Given the description of an element on the screen output the (x, y) to click on. 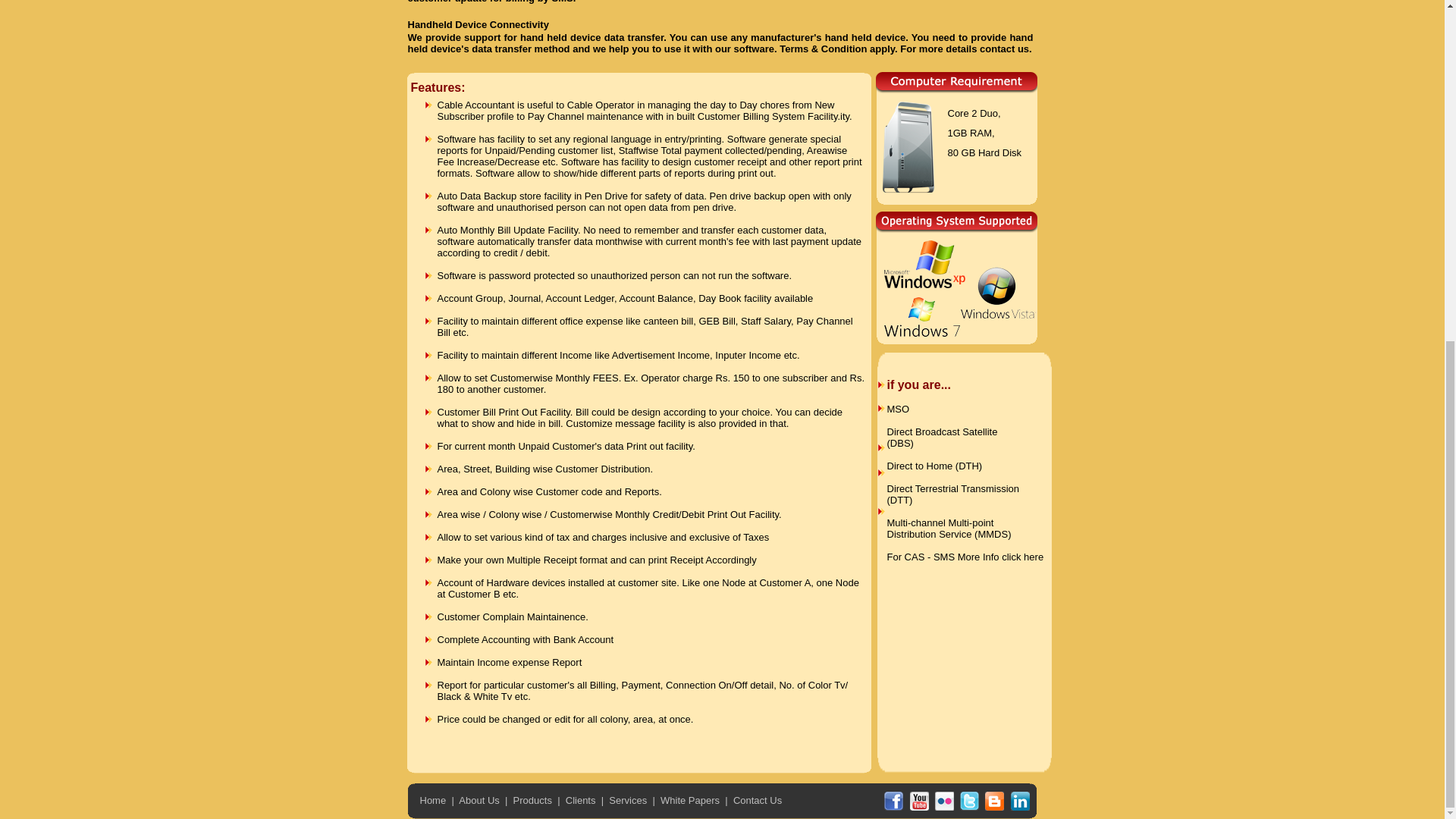
Home (433, 799)
Products (532, 799)
Services (627, 799)
Home (433, 799)
About Us (478, 799)
White Papers (690, 799)
Clients (580, 799)
Products (532, 799)
White Papers (690, 799)
Contact Us (757, 799)
